Given the description of an element on the screen output the (x, y) to click on. 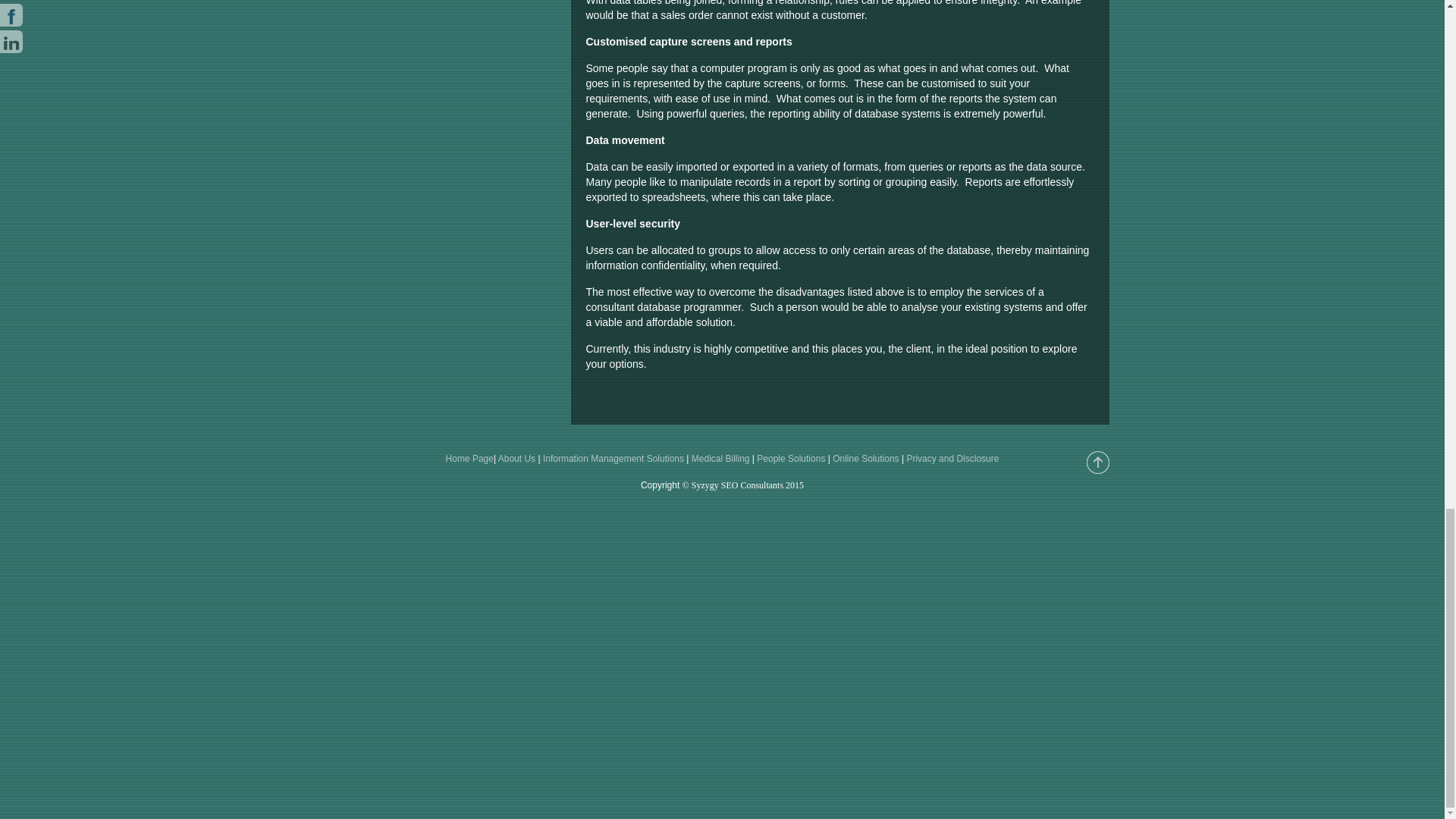
People Solutions (791, 458)
Online Solutions (865, 458)
Home Page (469, 458)
People Solutions (791, 458)
Online Solutions (865, 458)
Medical Billing (720, 458)
Privacy and Disclosure (951, 458)
About Us (516, 458)
Information Management Solutions (613, 458)
Information Management Solutions (613, 458)
